Given the description of an element on the screen output the (x, y) to click on. 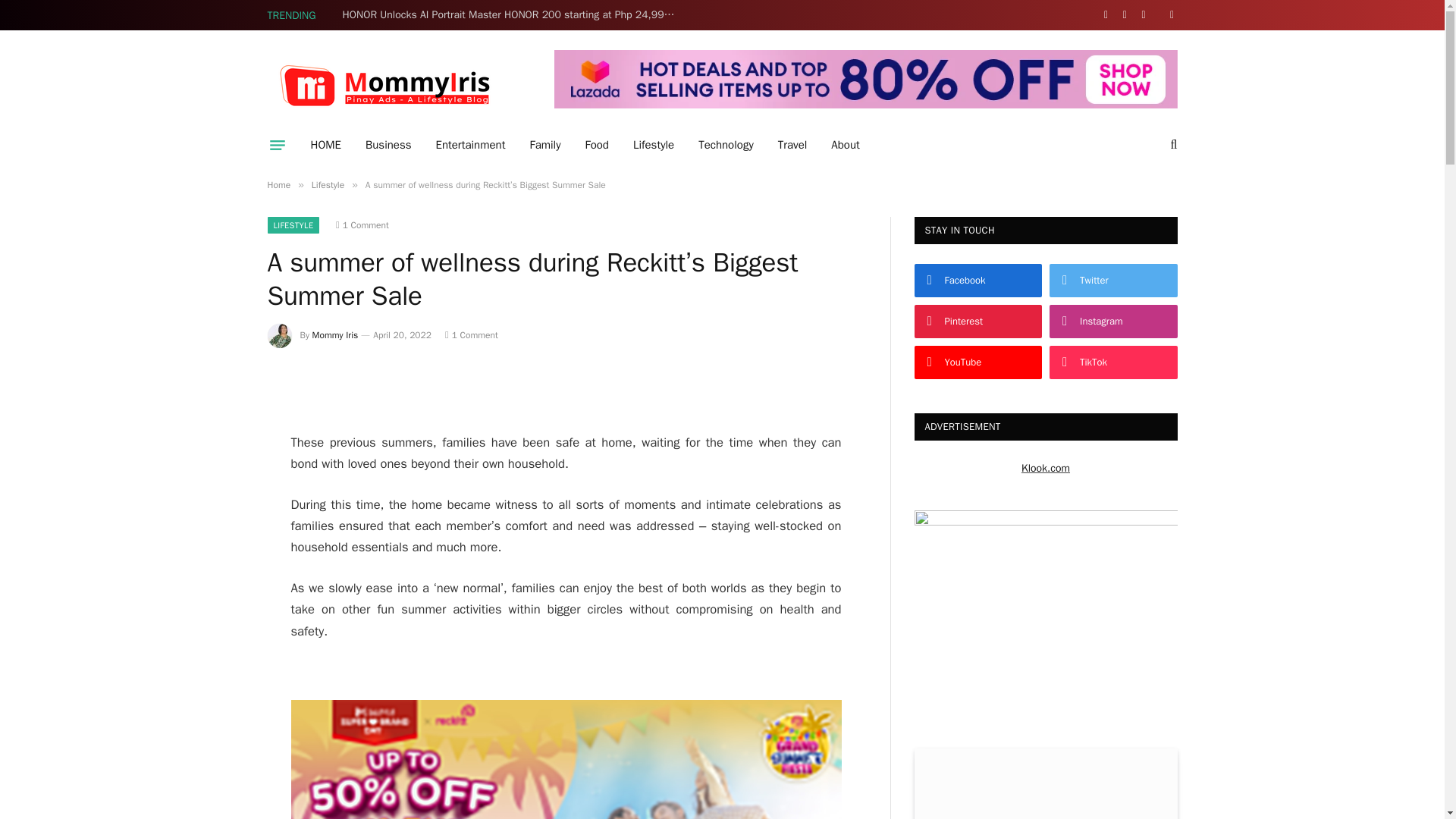
Food (596, 144)
Travel (792, 144)
Business (388, 144)
Family (544, 144)
Entertainment (469, 144)
HOME (325, 144)
Switch to Dark Design - easier on eyes. (1169, 14)
Home (277, 184)
Posts by Mommy Iris (335, 335)
About (844, 144)
Technology (725, 144)
Lifestyle (653, 144)
